Given the description of an element on the screen output the (x, y) to click on. 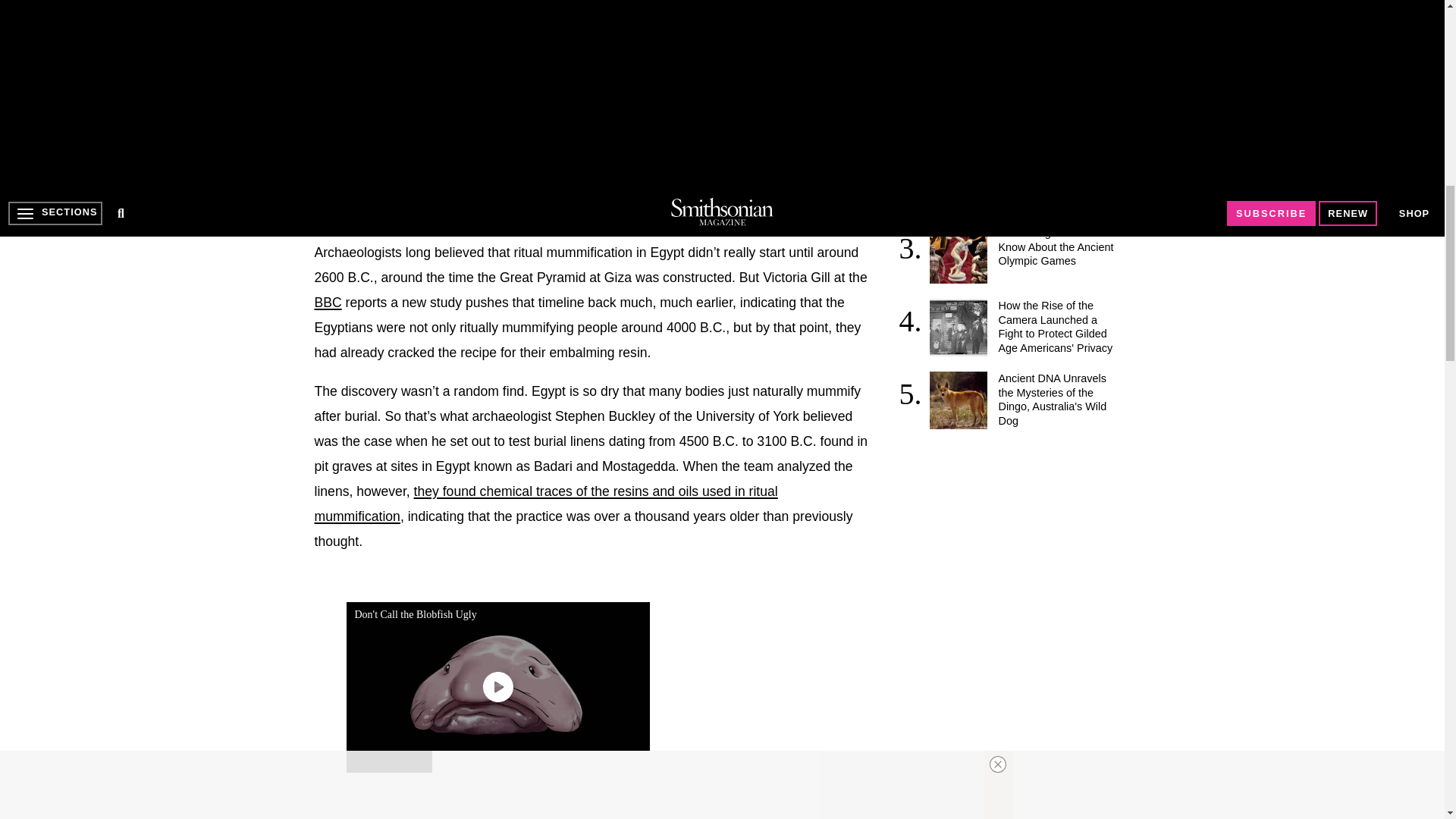
Pocket (480, 206)
Print (511, 206)
3rd party ad content (1015, 542)
Reddit (418, 206)
Twitter (357, 206)
Email (542, 206)
LinkedIn (387, 206)
WhatsApp (450, 206)
Facebook (325, 206)
